Given the description of an element on the screen output the (x, y) to click on. 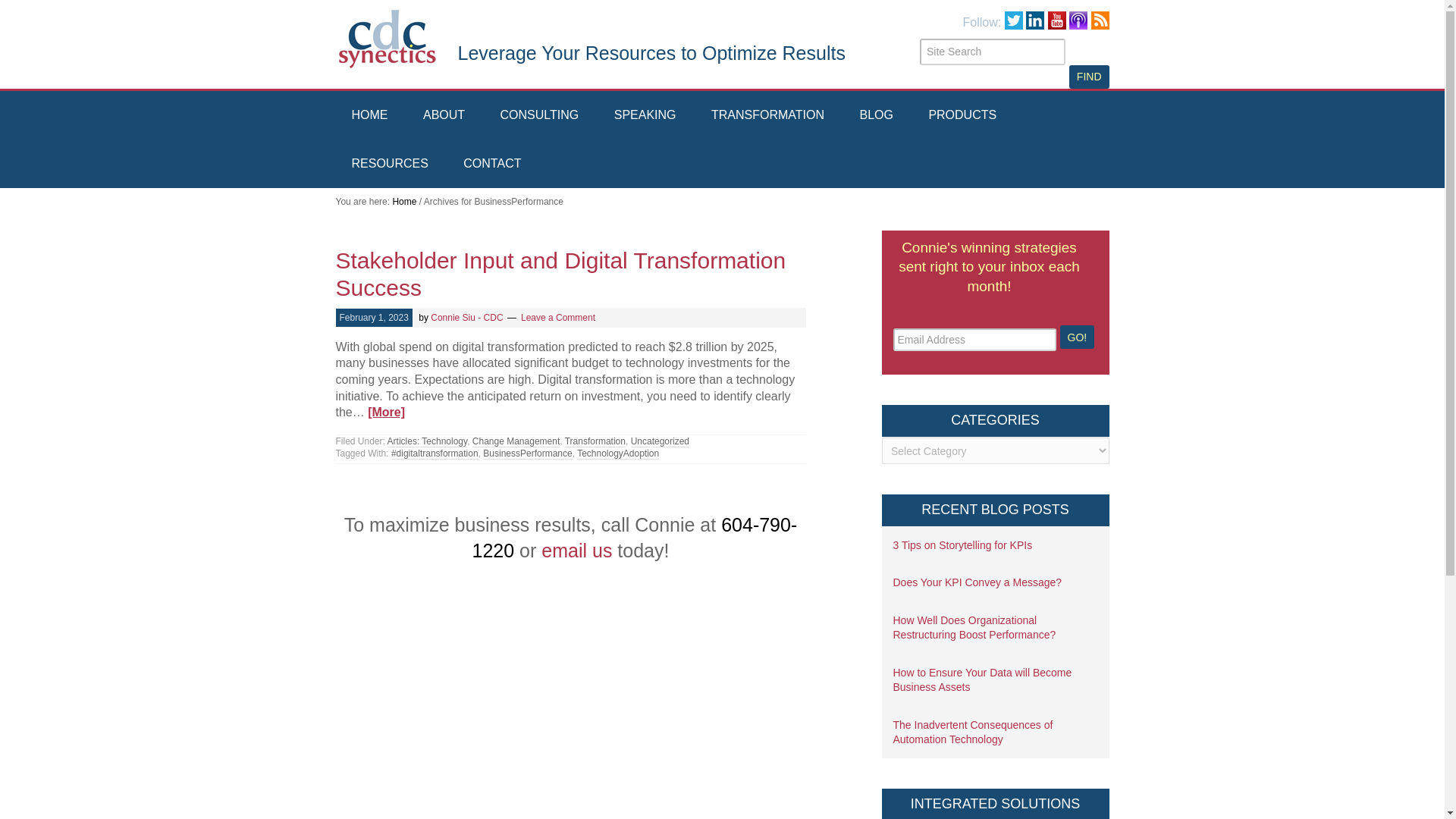
TRANSFORMATION (767, 114)
BLOG (875, 114)
FIND (1088, 76)
HOME (368, 114)
CONSULTING (539, 114)
PRODUCTS (961, 114)
Email Address (975, 339)
FIND (1088, 76)
RESOURCES (389, 163)
